Given the description of an element on the screen output the (x, y) to click on. 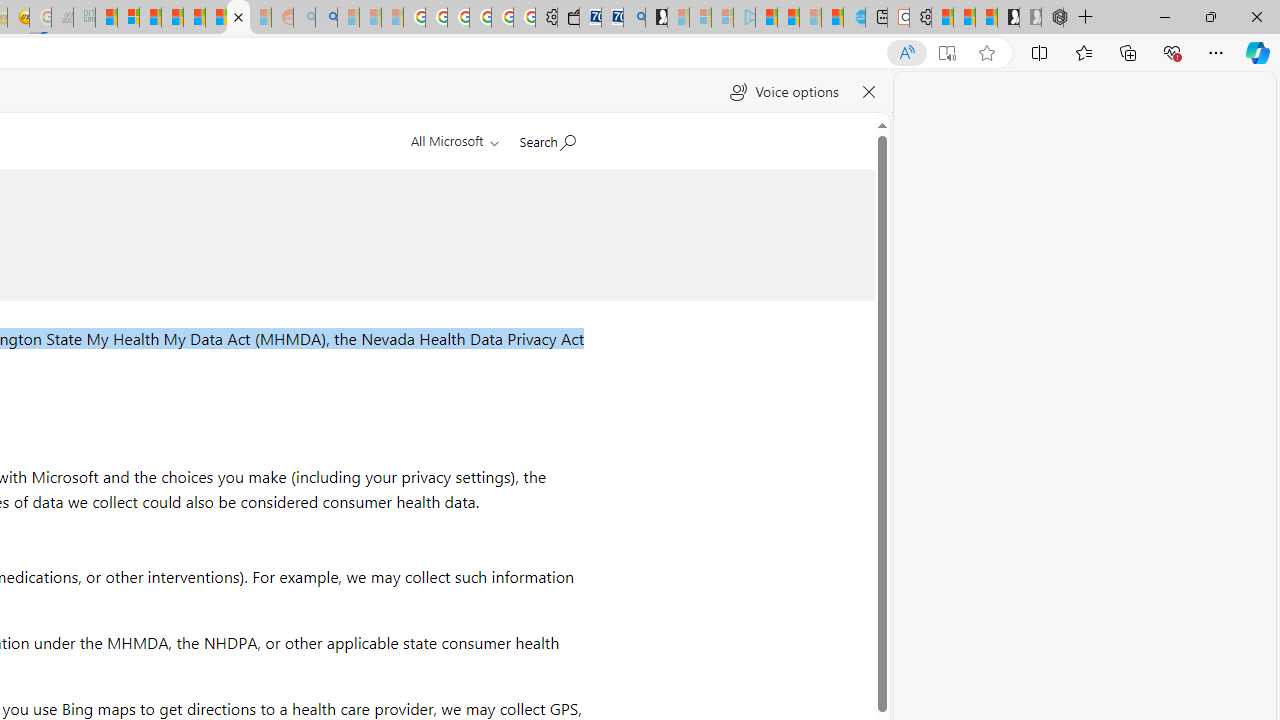
MSNBC - MSN (106, 17)
Enter Immersive Reader (F9) (946, 53)
Voice options (783, 92)
Utah sues federal government - Search - Sleeping (326, 17)
Play Free Online Games | Games from Microsoft Start (1008, 17)
